Given the description of an element on the screen output the (x, y) to click on. 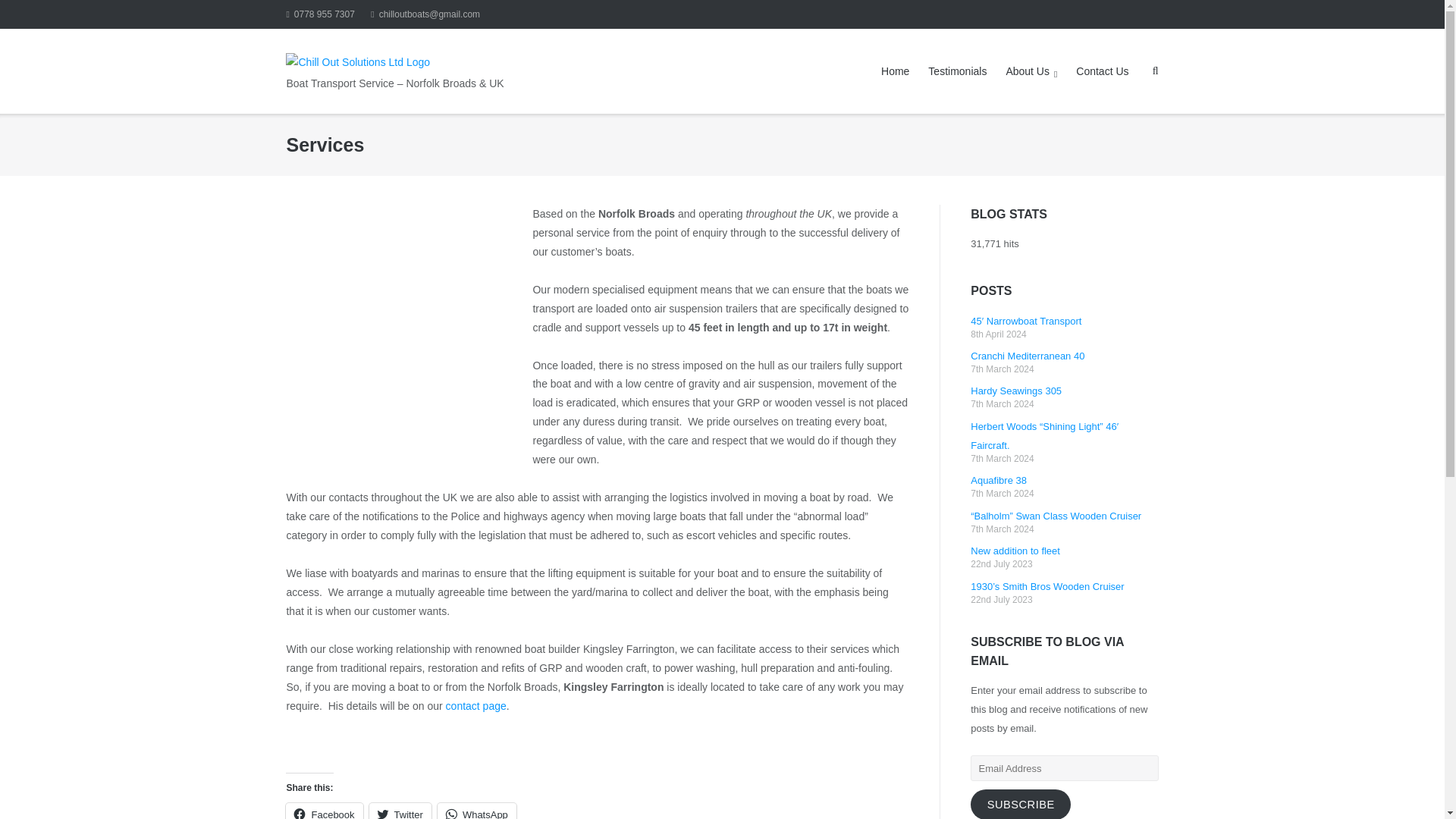
Cranchi Mediterranean 40 (1027, 355)
New addition to fleet (1015, 550)
Facebook (323, 811)
Click to share on Twitter (399, 811)
Twitter (399, 811)
Click to share on WhatsApp (477, 811)
0778 955 7307 (319, 14)
SUBSCRIBE (1020, 804)
contact page (475, 705)
Hardy Seawings 305 (1016, 390)
